Given the description of an element on the screen output the (x, y) to click on. 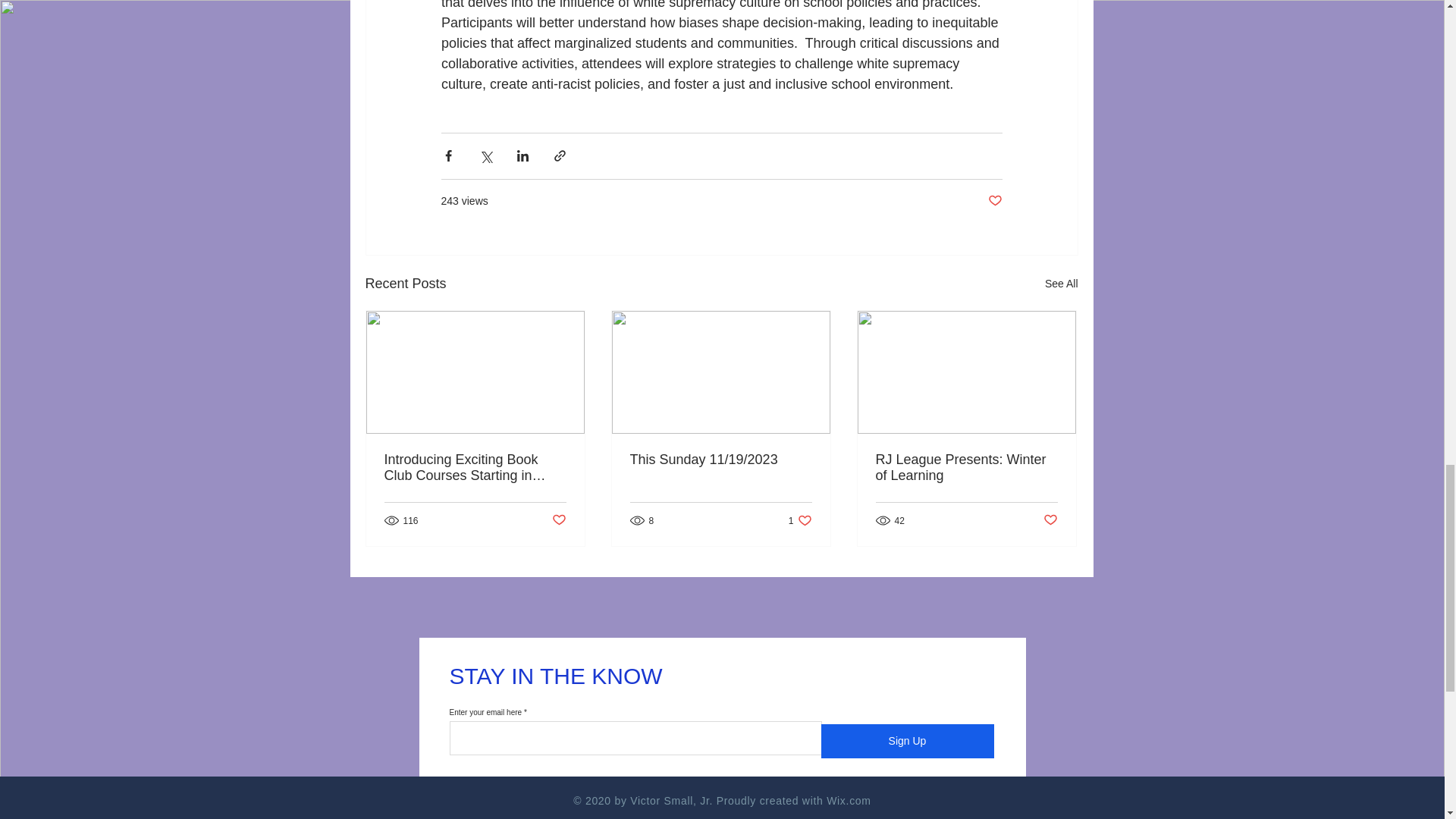
Post not marked as liked (558, 520)
Introducing Exciting Book Club Courses Starting in March! (800, 520)
Post not marked as liked (475, 468)
Post not marked as liked (994, 201)
See All (1050, 520)
RJ League Presents: Winter of Learning (1061, 283)
Sign Up (966, 468)
